Given the description of an element on the screen output the (x, y) to click on. 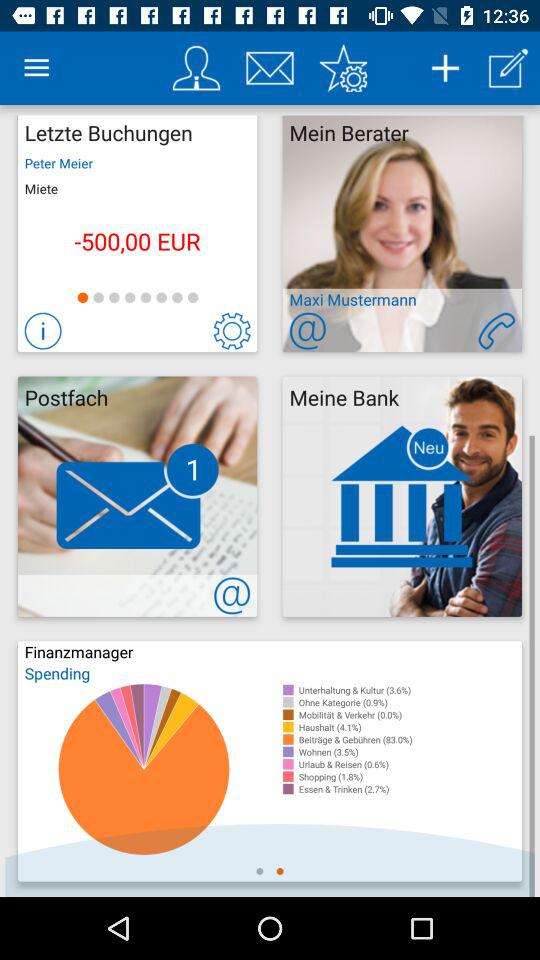
open the item above letzte buchungen icon (36, 68)
